Given the description of an element on the screen output the (x, y) to click on. 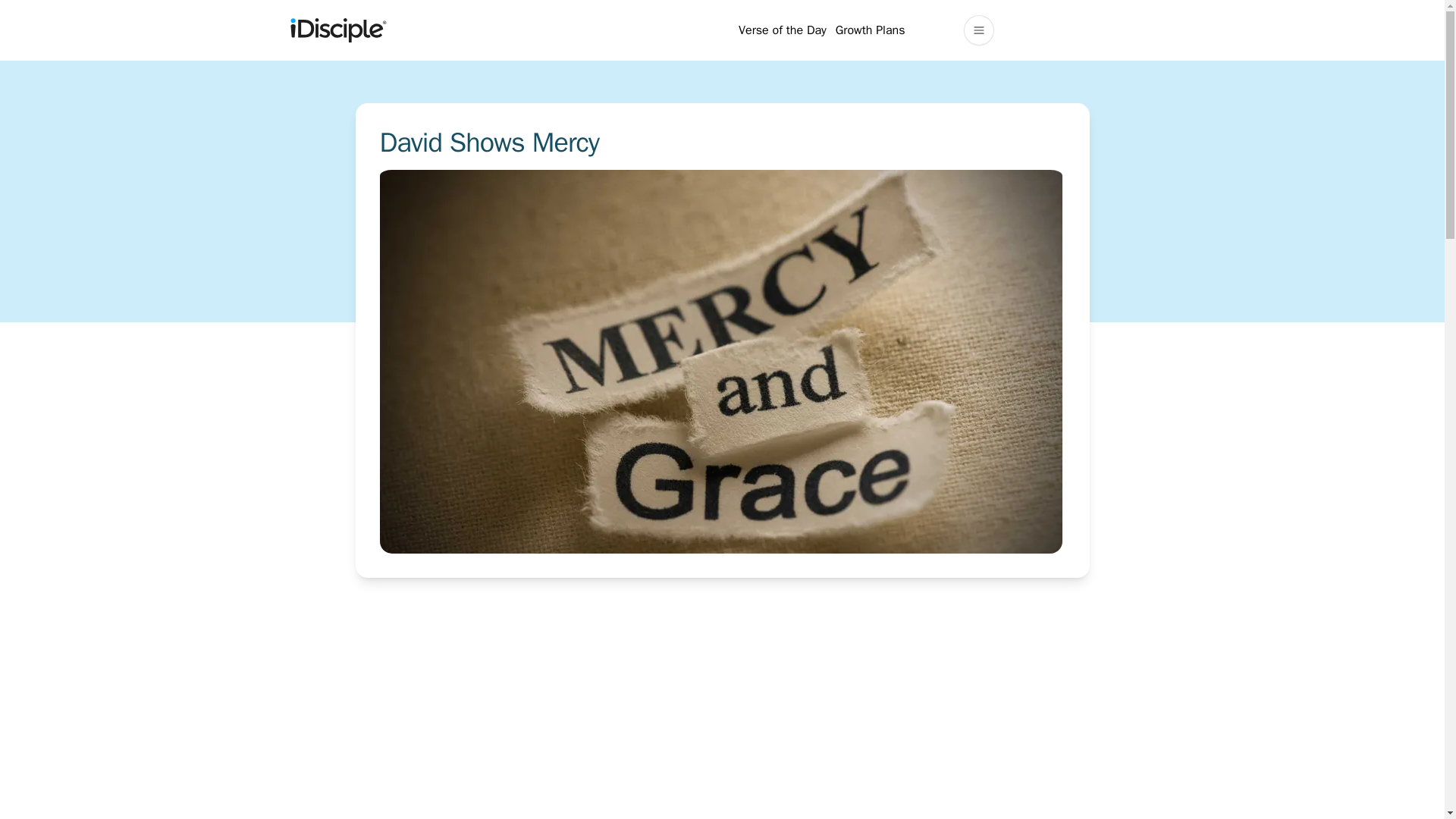
Verse of the Day (782, 29)
Growth Plans (870, 29)
